Given the description of an element on the screen output the (x, y) to click on. 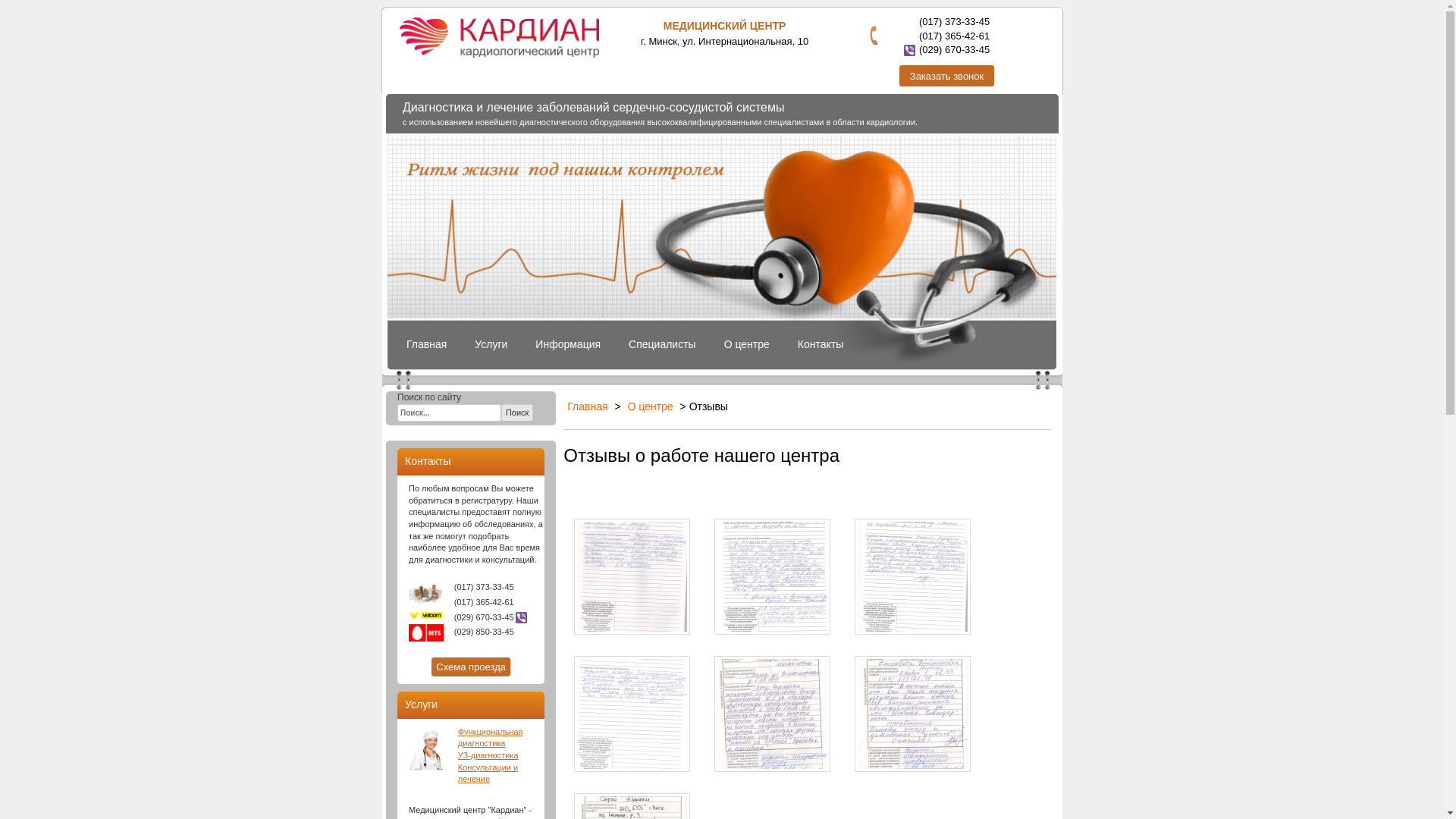
(029) 670-33-45 Element type: text (954, 49)
(017) 365-42-61 Element type: text (954, 35)
(017) 373-33-45 Element type: text (954, 21)
